Given the description of an element on the screen output the (x, y) to click on. 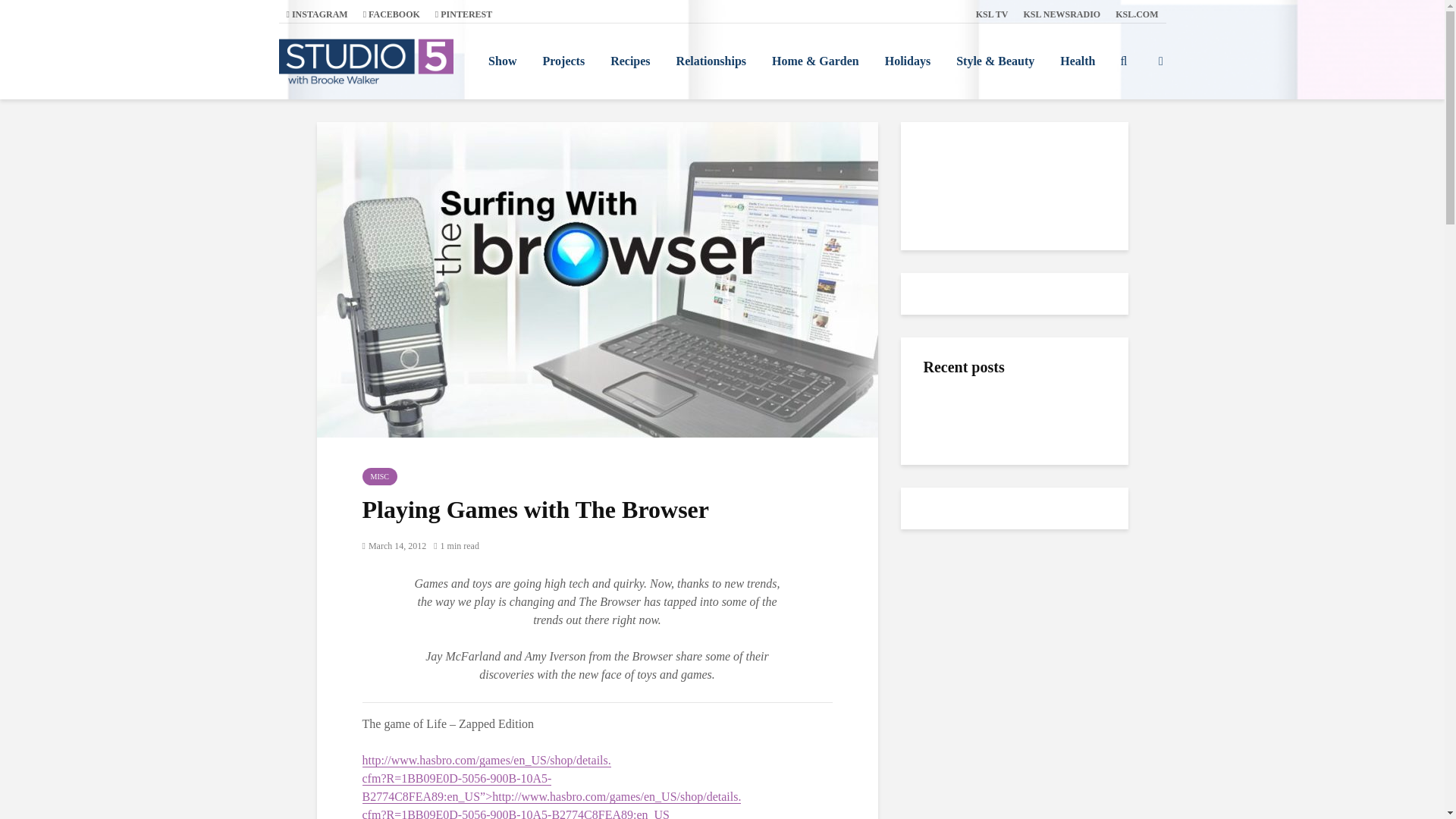
MISC (379, 476)
KSL NEWSRADIO (1061, 14)
FACEBOOK (391, 14)
Show (502, 60)
Health (1077, 60)
Holidays (907, 60)
KSL.COM (1137, 14)
Relationships (711, 60)
KSL TV (992, 14)
Recipes (629, 60)
